Given the description of an element on the screen output the (x, y) to click on. 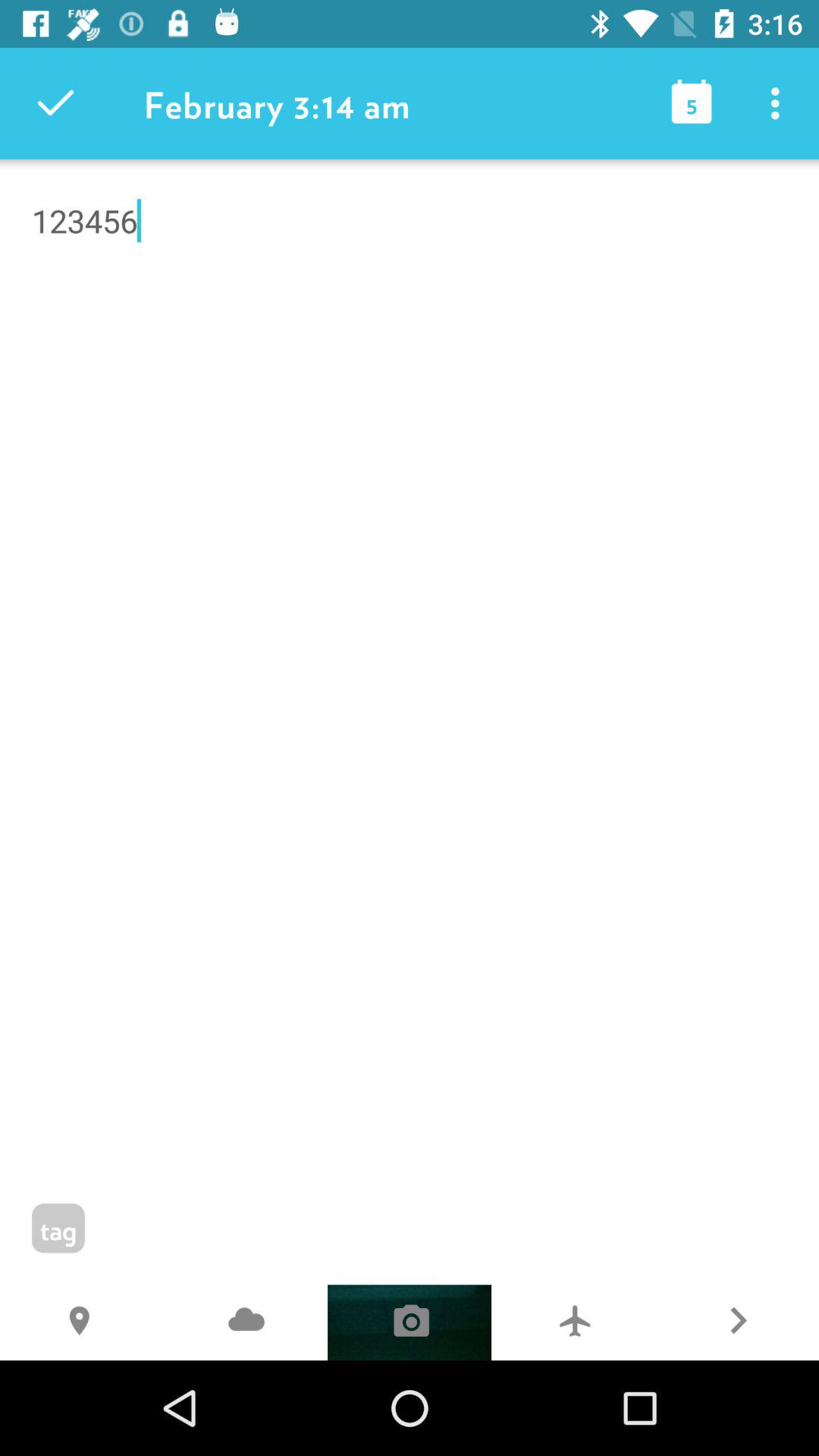
select the icon below 123456 (573, 1322)
